Given the description of an element on the screen output the (x, y) to click on. 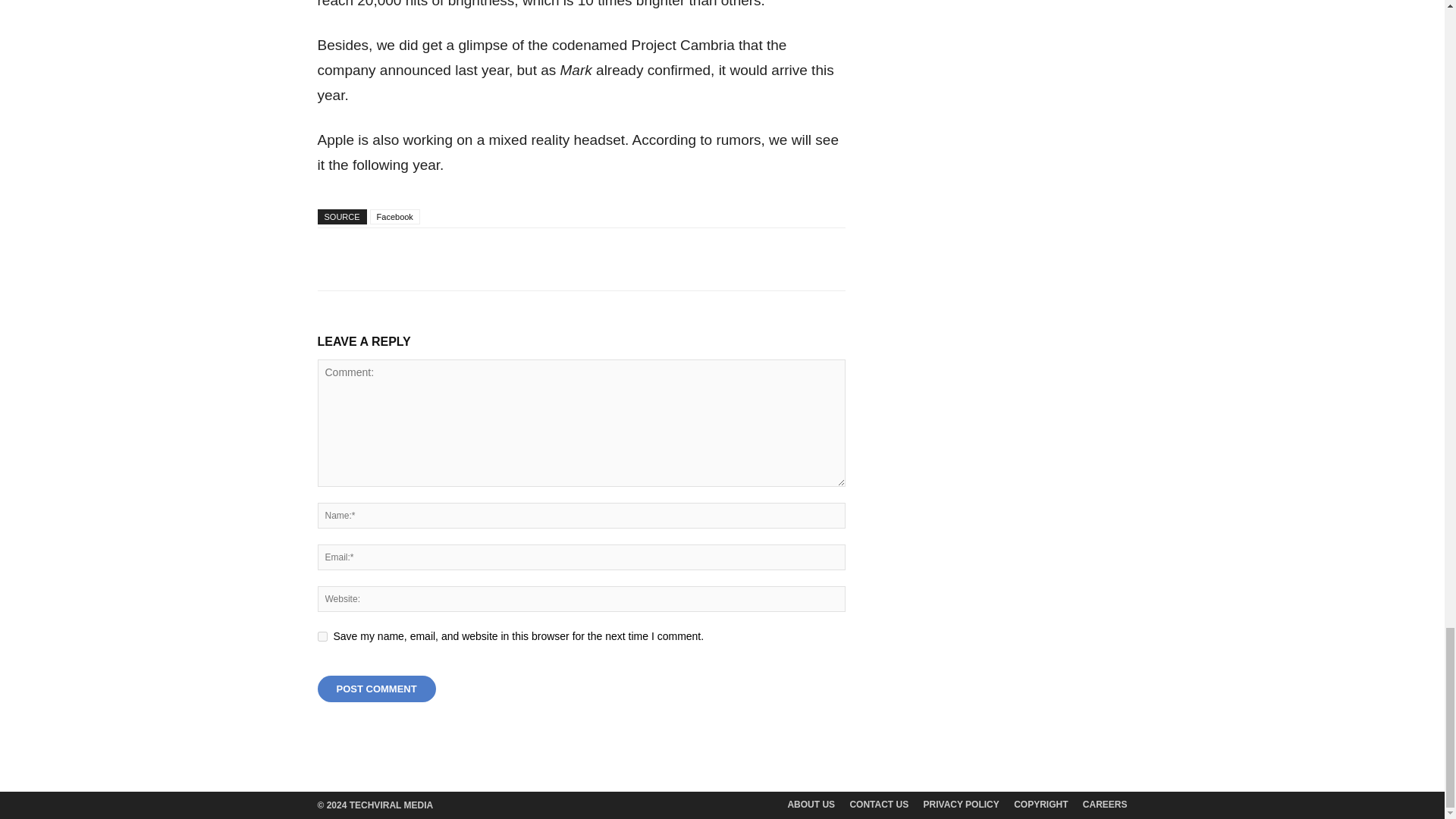
Post Comment (376, 688)
yes (321, 636)
Facebook (394, 216)
